Given the description of an element on the screen output the (x, y) to click on. 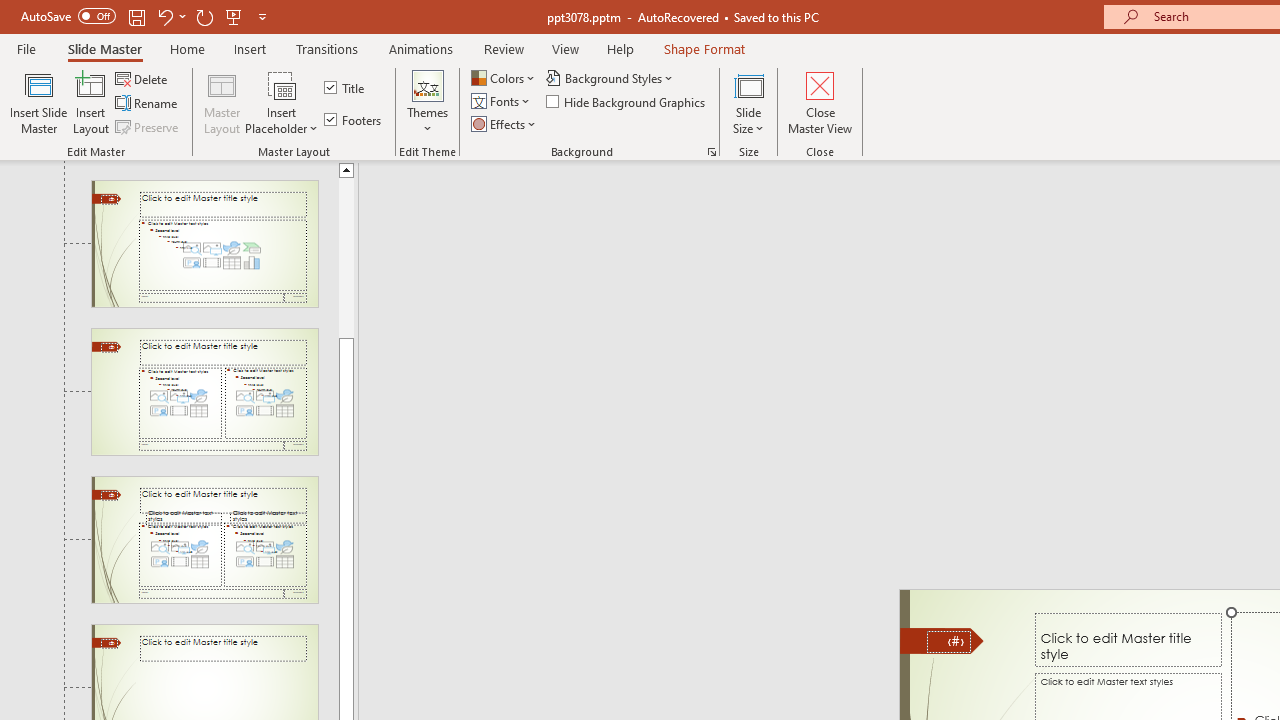
Slide Title and Content Layout: used by no slides (204, 243)
Insert Layout (91, 102)
Insert Placeholder (282, 102)
Content (282, 84)
Footers (354, 119)
Slide Master (104, 48)
Fonts (502, 101)
Colors (504, 78)
